Given the description of an element on the screen output the (x, y) to click on. 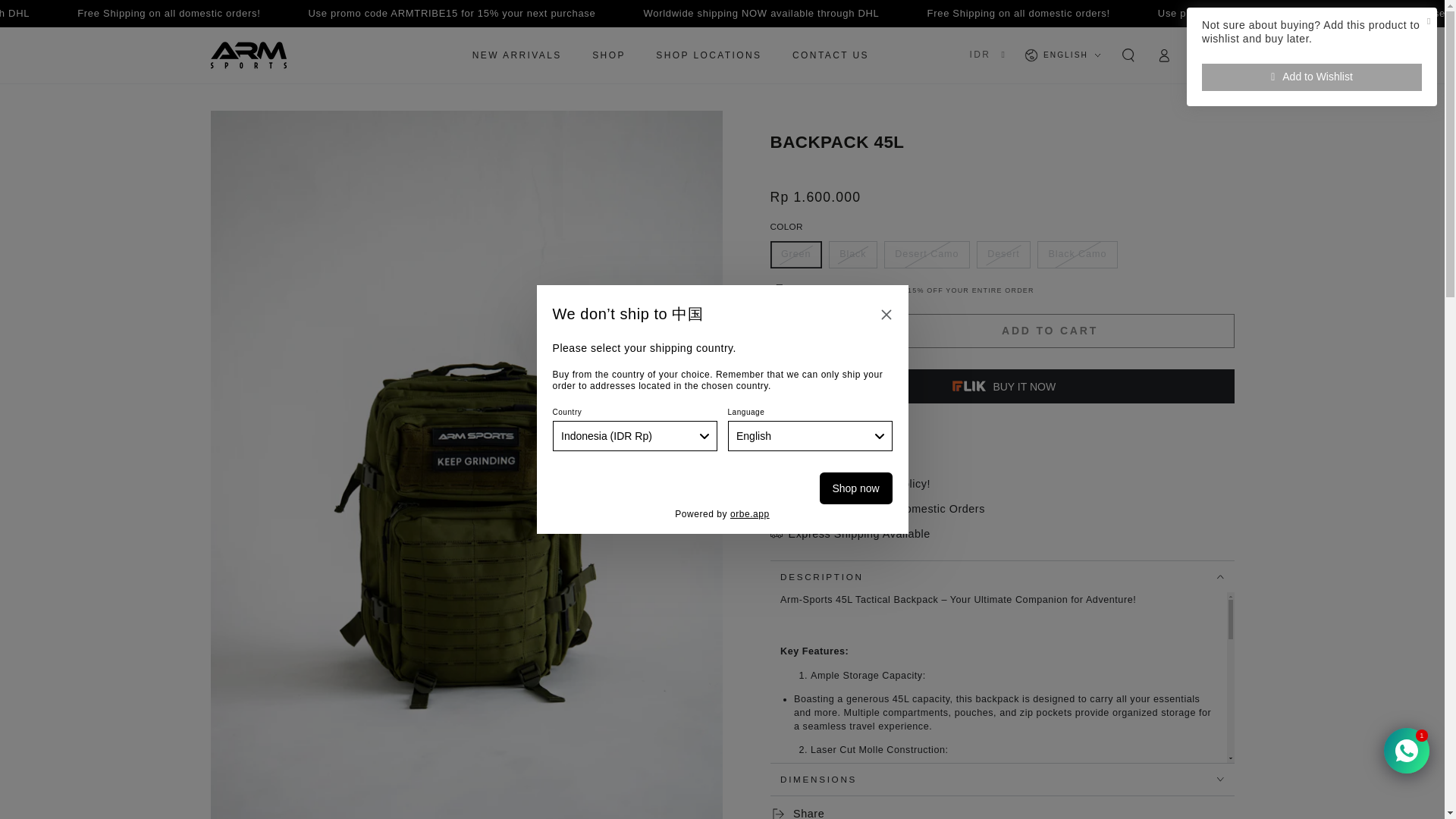
1 (810, 330)
Shop now (855, 488)
Worldwide shipping NOW available through DHL (962, 13)
Free Shipping on all domestic orders! (1218, 13)
orbe.app (750, 513)
Free Shipping on all domestic orders! (373, 13)
SKIP TO CONTENT (61, 13)
Worldwide shipping NOW available through DHL (117, 13)
English (810, 435)
